Given the description of an element on the screen output the (x, y) to click on. 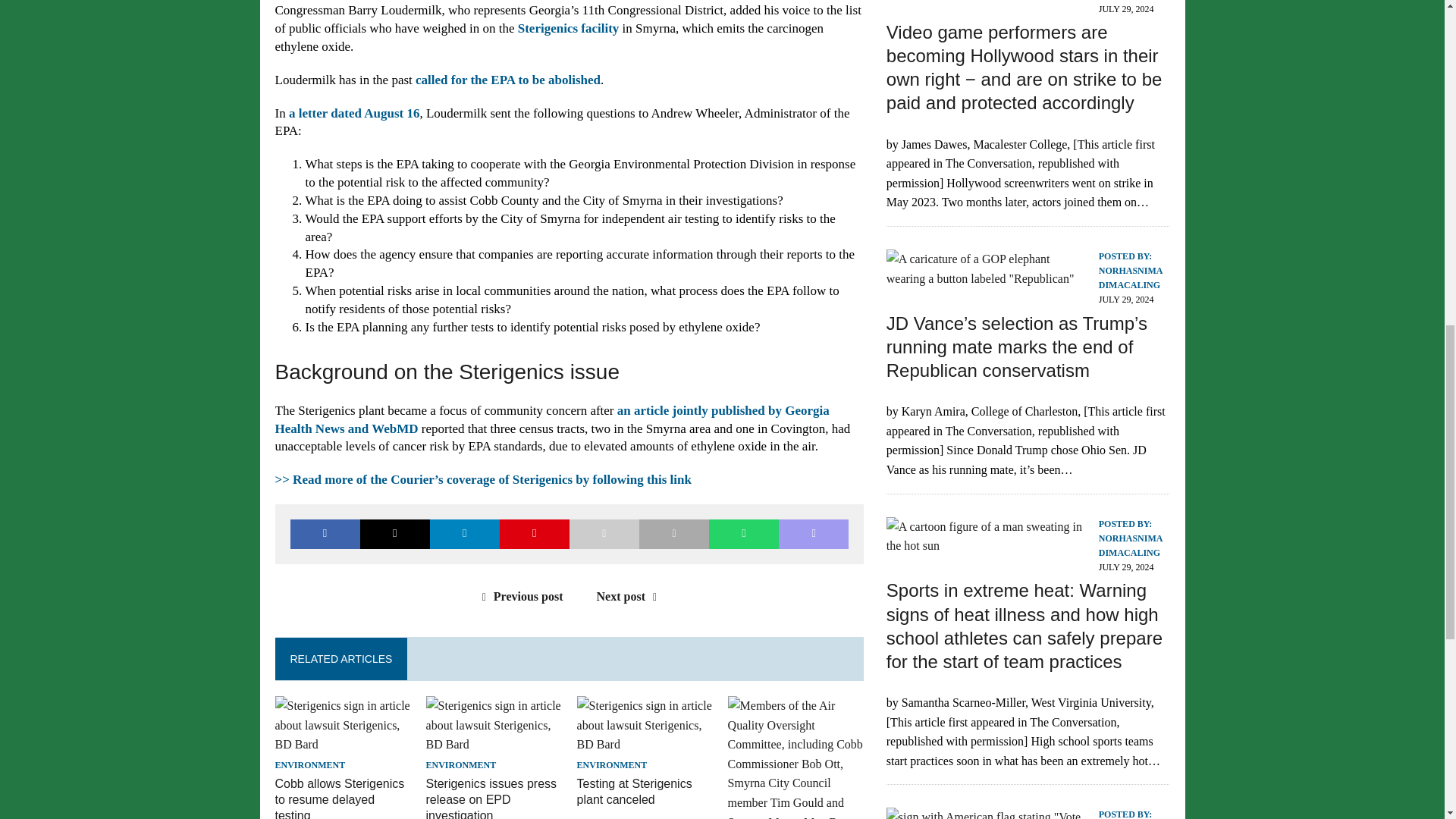
Sterigenics facility (569, 28)
called for the EPA to be abolished (506, 79)
a letter dated August 16 (354, 113)
